Given the description of an element on the screen output the (x, y) to click on. 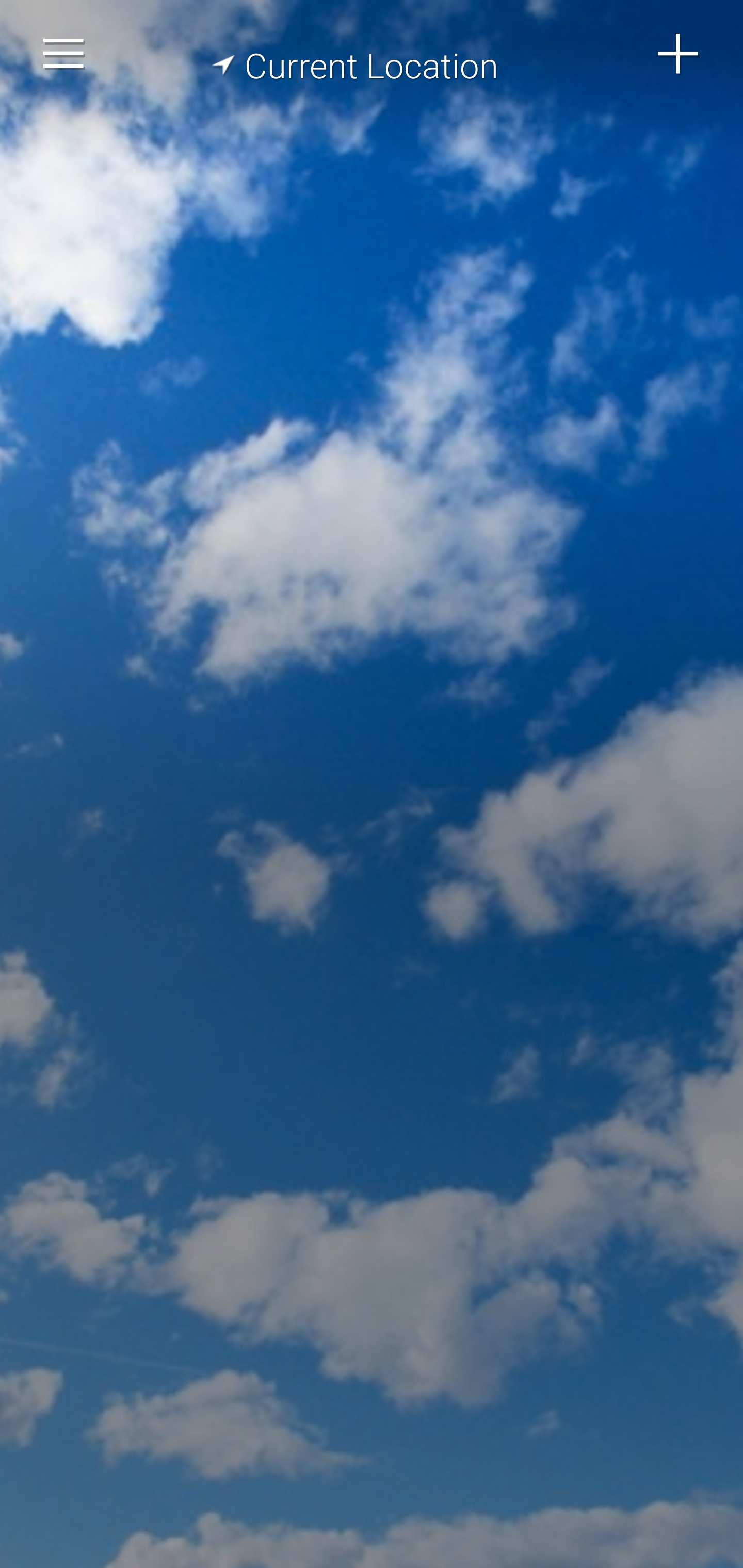
Sidebar (64, 54)
Add City (678, 53)
